Given the description of an element on the screen output the (x, y) to click on. 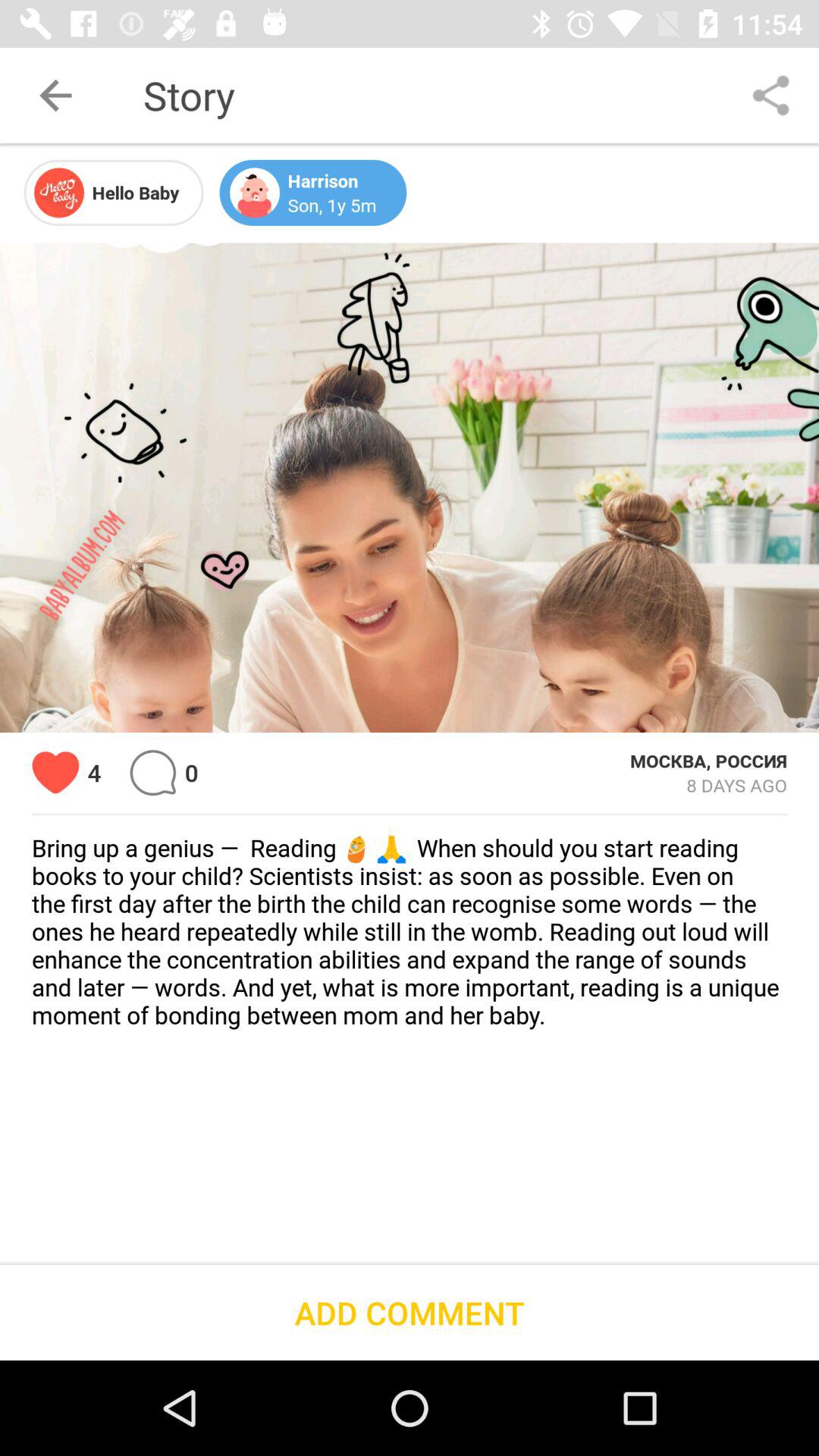
turn off the item next to 4 (152, 772)
